Given the description of an element on the screen output the (x, y) to click on. 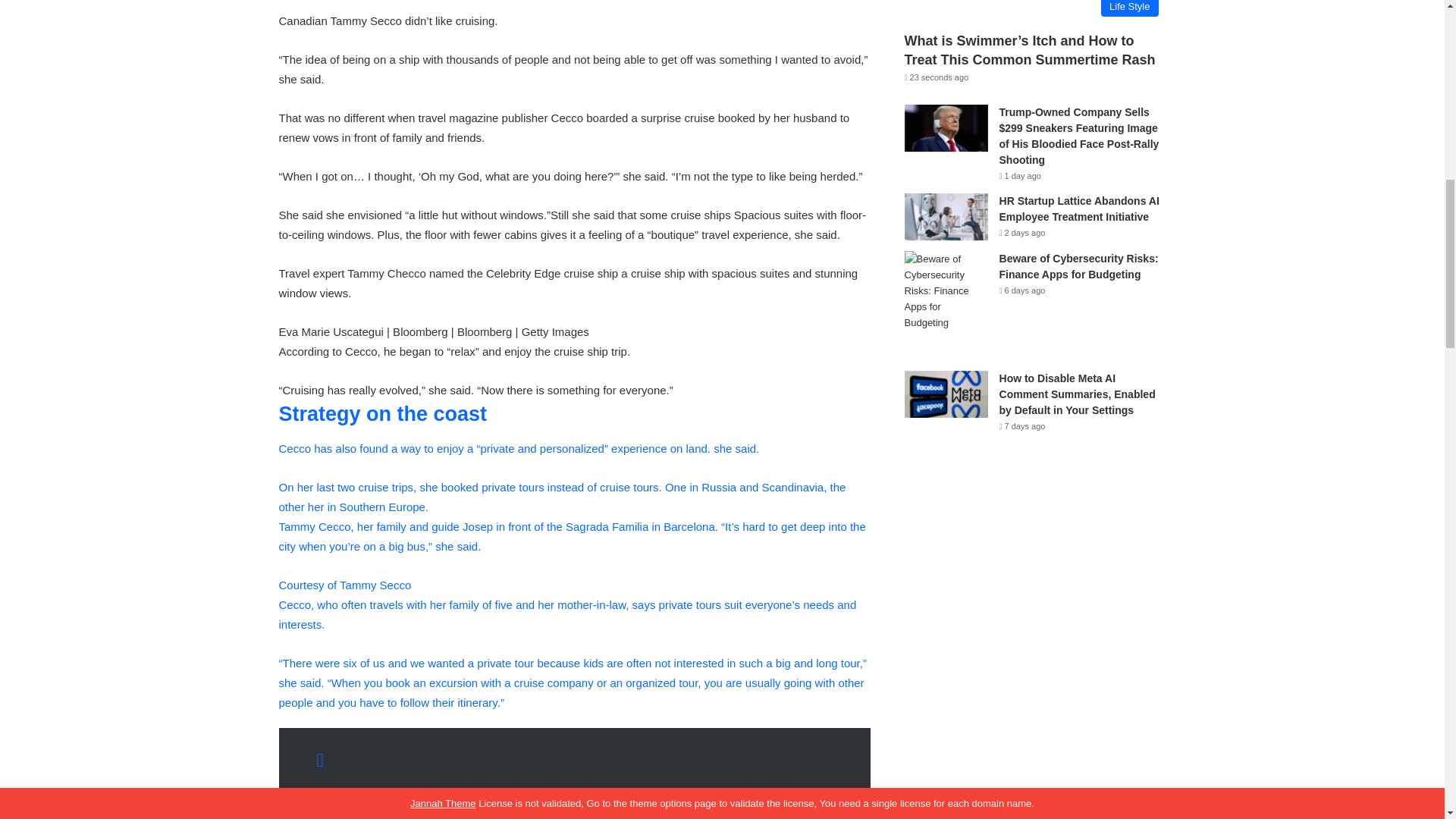
Strategy on the coast (383, 413)
